Given the description of an element on the screen output the (x, y) to click on. 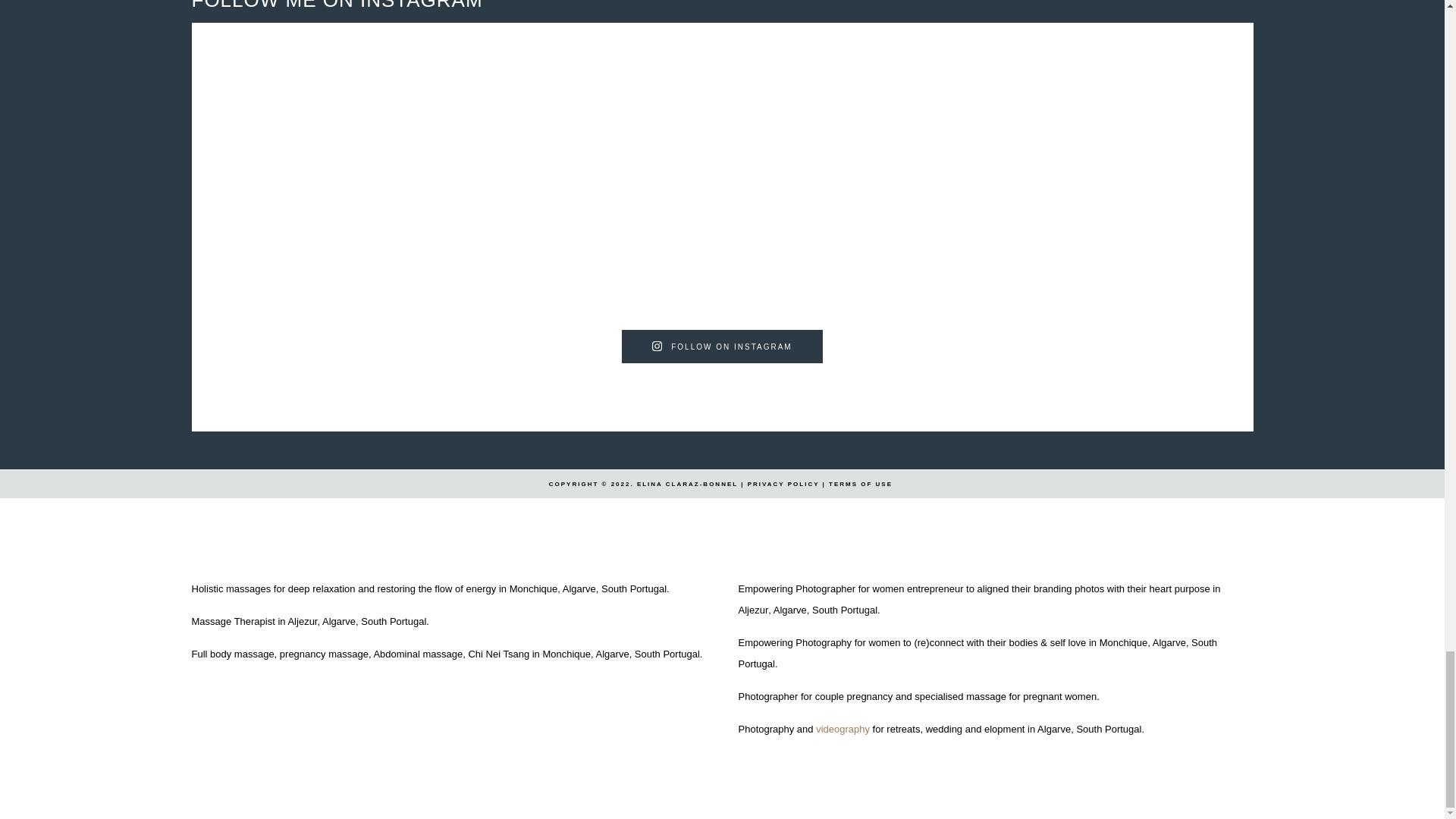
Aljezur (753, 609)
FOLLOW ON INSTAGRAM (721, 346)
videography (842, 728)
Monchique (1123, 642)
Aljezur (301, 621)
Portugal (1123, 728)
deep relaxation (321, 588)
Monchique (533, 588)
